Given the description of an element on the screen output the (x, y) to click on. 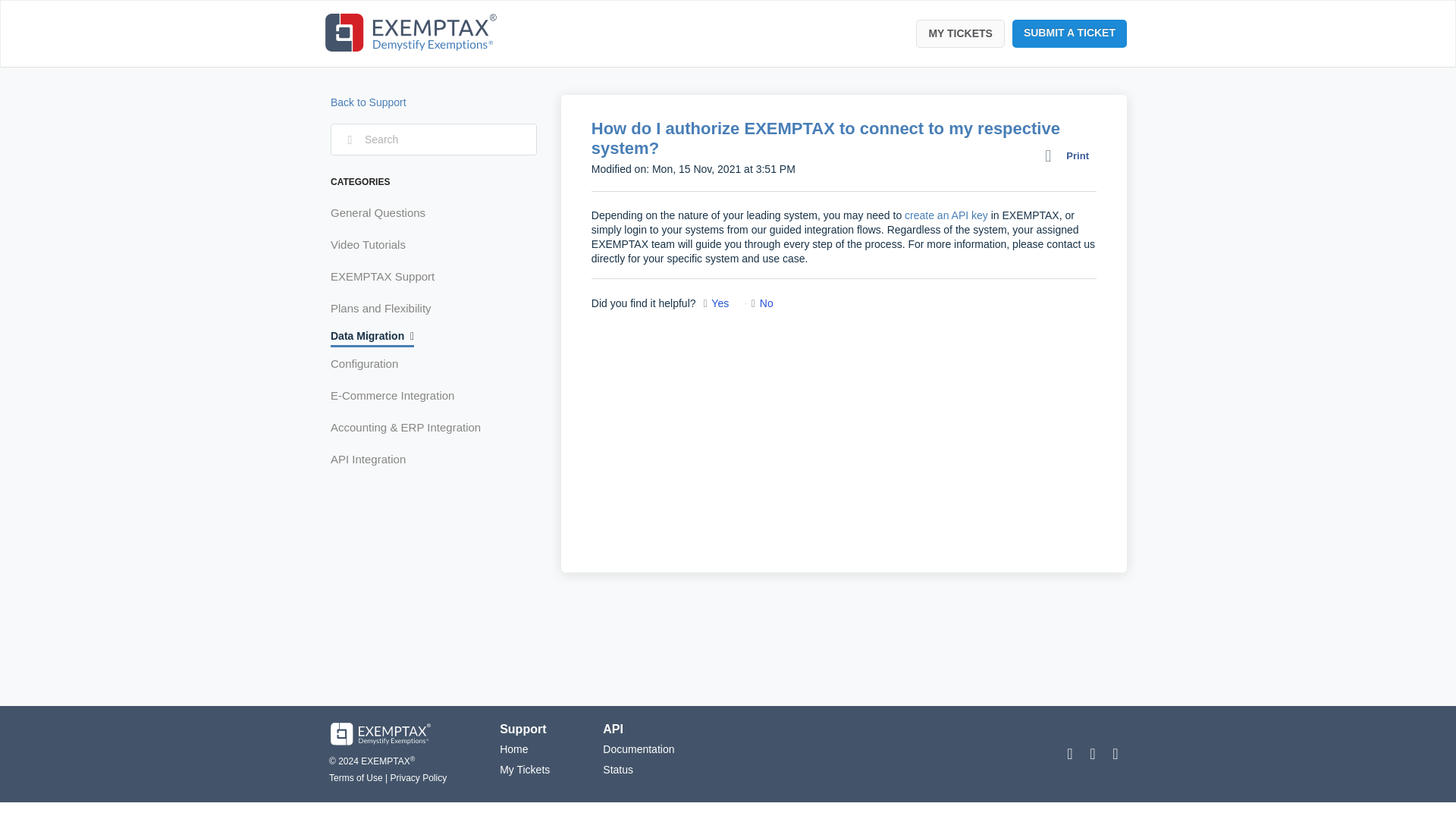
My Tickets (524, 769)
create an API key (946, 215)
Privacy Policy (418, 777)
Documentation (638, 748)
Youtube - EXEMPTAX (1092, 754)
Back to Support (368, 102)
Configuration (369, 363)
LinkedIn - EXEMPTAX (1114, 754)
Facebook - EXEMPTAX (1069, 754)
E-Commerce Integration (397, 395)
